Given the description of an element on the screen output the (x, y) to click on. 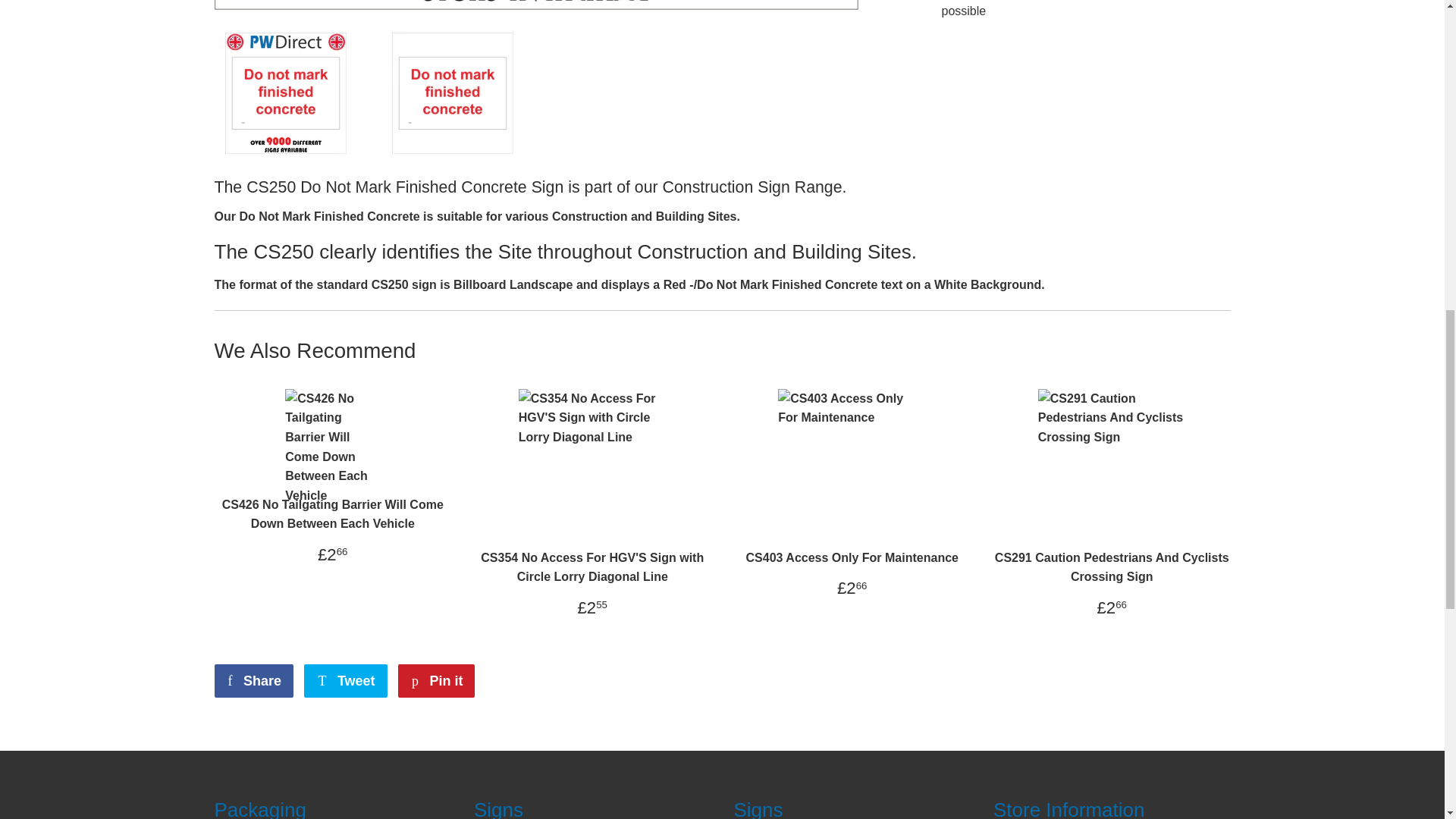
Tweet on Twitter (345, 680)
Pin on Pinterest (435, 680)
Share on Facebook (253, 680)
